Given the description of an element on the screen output the (x, y) to click on. 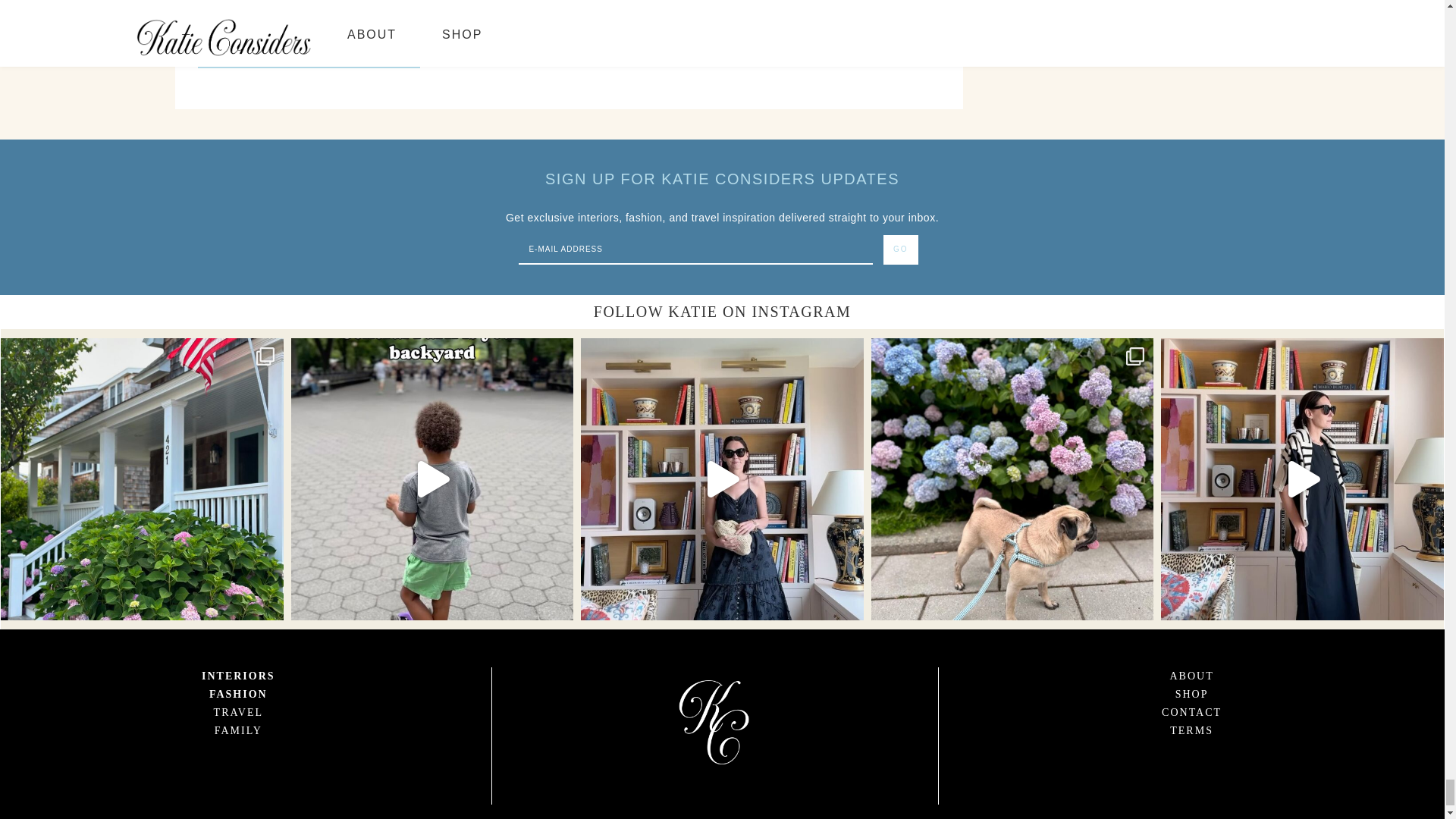
Go (900, 249)
1 (203, 11)
Post Comment (308, 53)
